Given the description of an element on the screen output the (x, y) to click on. 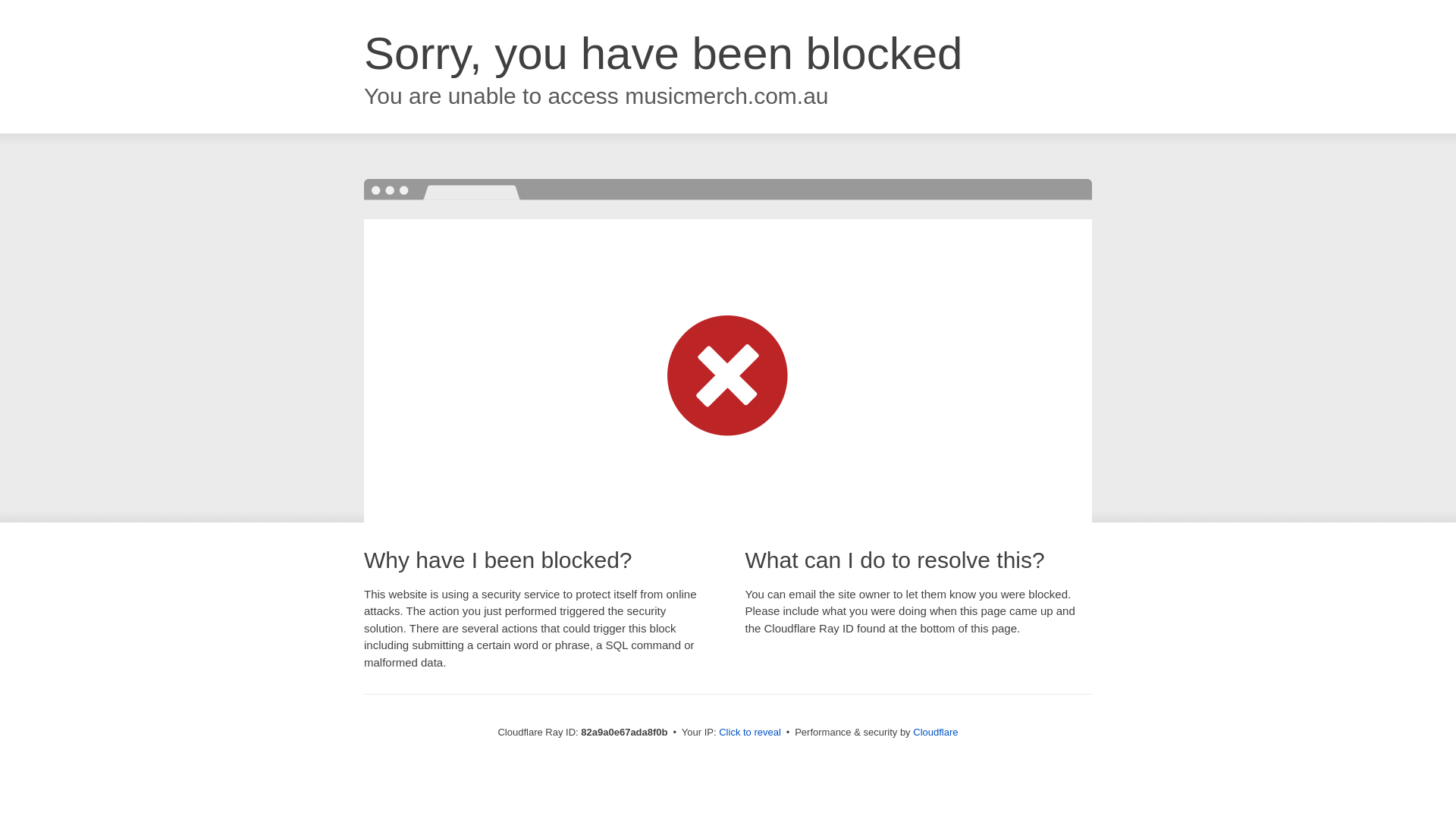
Click to reveal Element type: text (749, 732)
Cloudflare Element type: text (935, 731)
